Given the description of an element on the screen output the (x, y) to click on. 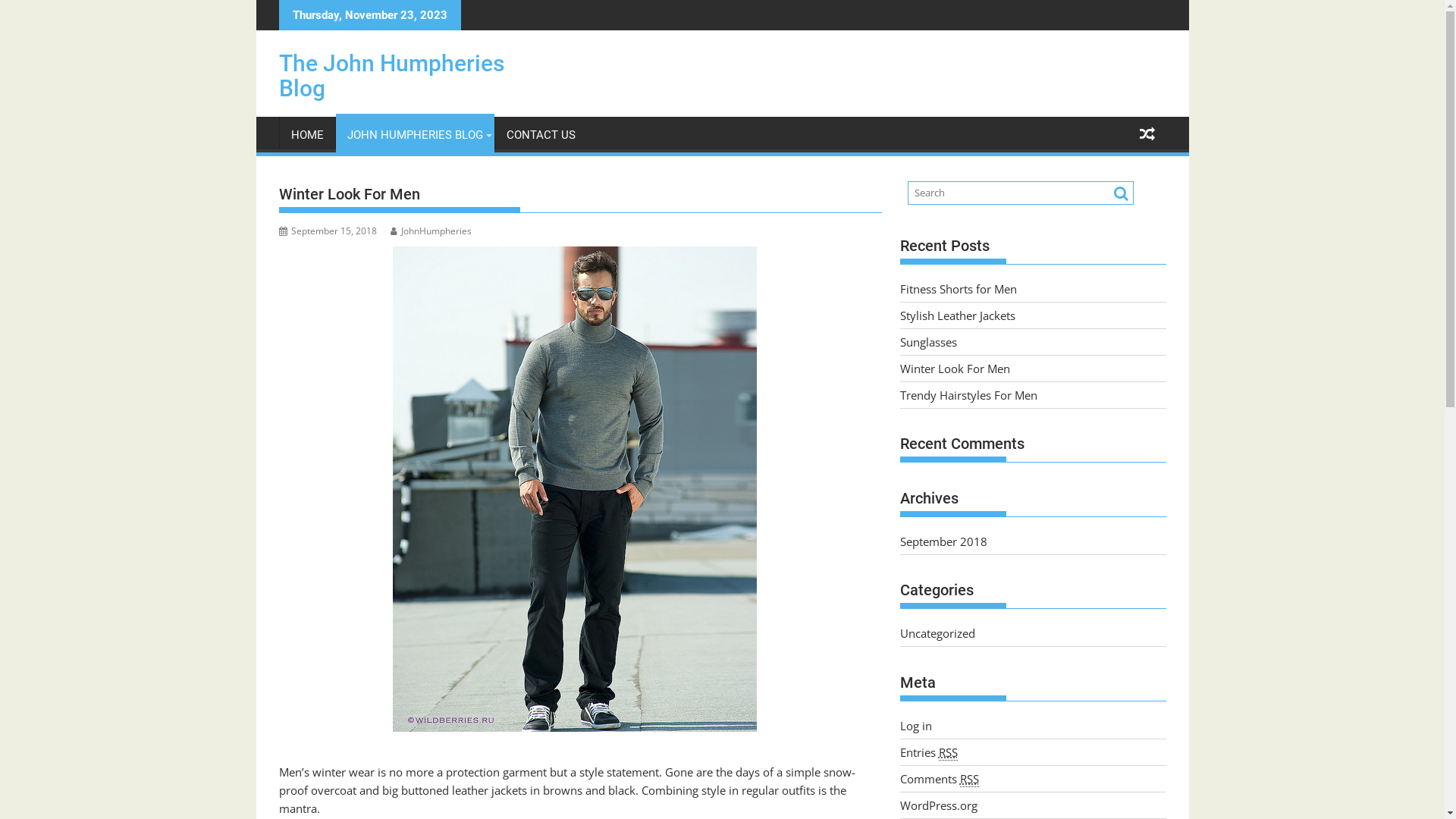
Uncategorized Element type: text (936, 632)
Entries RSS Element type: text (928, 752)
September 2018 Element type: text (942, 541)
JohnHumpheries Element type: text (429, 230)
HOME Element type: text (306, 134)
September 15, 2018 Element type: text (327, 230)
Comments RSS Element type: text (938, 778)
CONTACT US Element type: text (540, 134)
Log in Element type: text (915, 724)
Stylish Leather Jackets Element type: text (956, 315)
Skip to content Element type: text (256, 0)
Sunglasses Element type: text (927, 340)
Winter Look For Men Element type: text (954, 368)
Trendy Hairstyles For Men Element type: text (967, 393)
WordPress.org Element type: text (937, 804)
Fitness Shorts for Men Element type: text (957, 287)
The John Humpheries Blog Element type: text (391, 75)
JOHN HUMPHERIES BLOG Element type: text (414, 134)
